Given the description of an element on the screen output the (x, y) to click on. 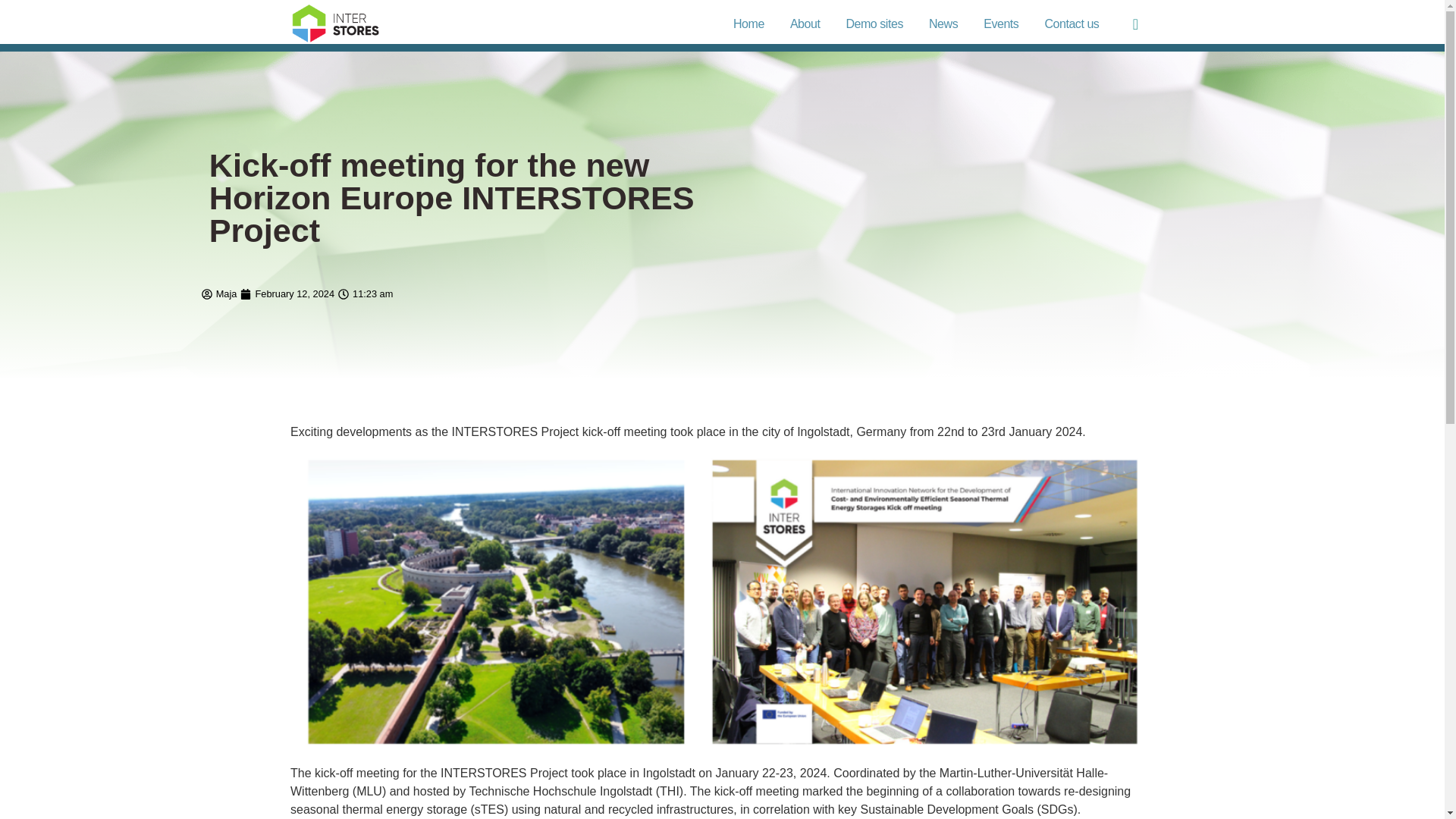
News (943, 24)
Home (748, 24)
Contact us (1071, 24)
Events (1000, 24)
About (805, 24)
Demo sites (874, 24)
Maja (219, 293)
February 12, 2024 (287, 293)
